Given the description of an element on the screen output the (x, y) to click on. 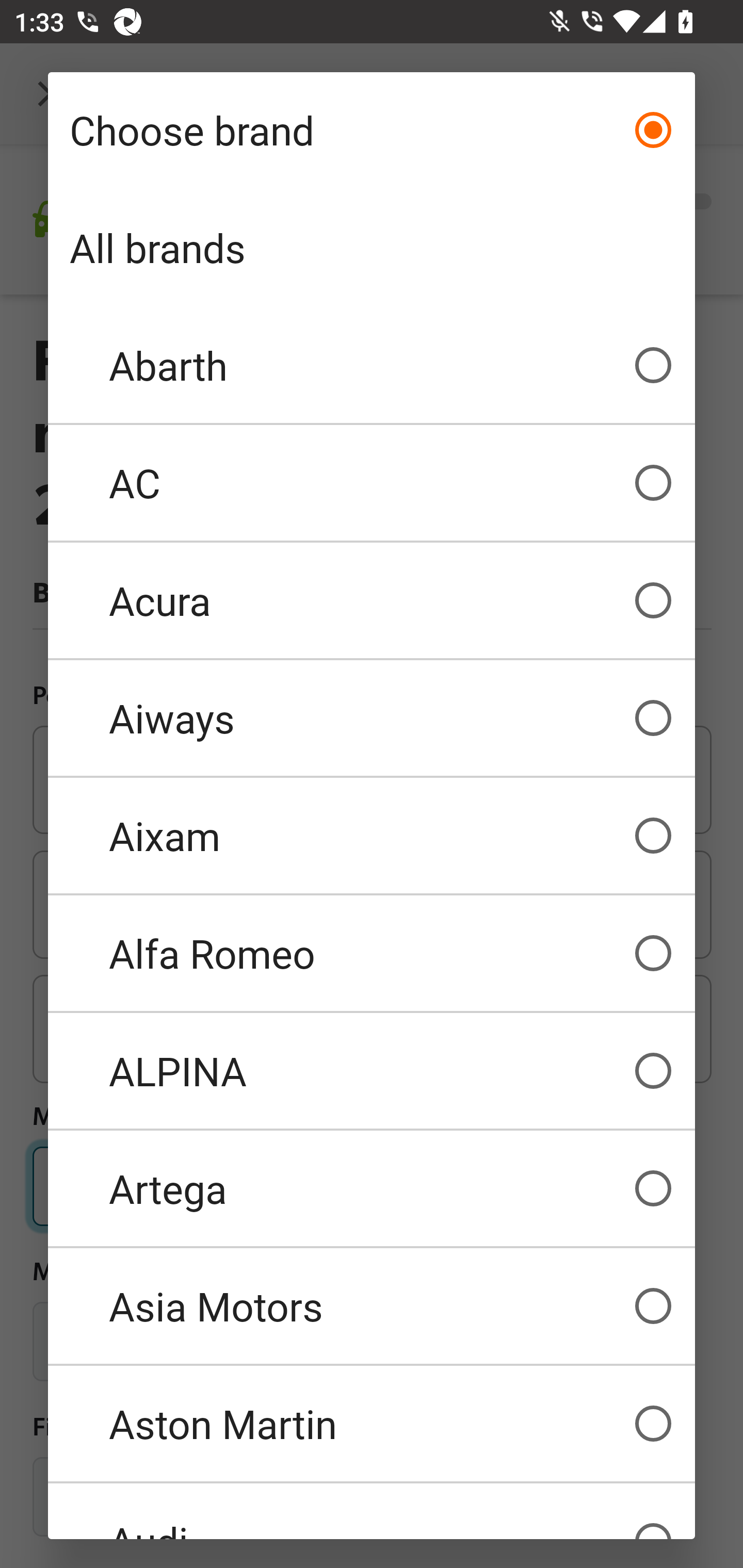
Choose brand (371, 130)
    Abarth (371, 365)
    AC (371, 482)
    Acura (371, 600)
    Aiways (371, 718)
    Aixam (371, 835)
    Alfa Romeo (371, 953)
    ALPINA (371, 1070)
    Artega (371, 1188)
    Asia Motors (371, 1306)
    Aston Martin (371, 1423)
